Given the description of an element on the screen output the (x, y) to click on. 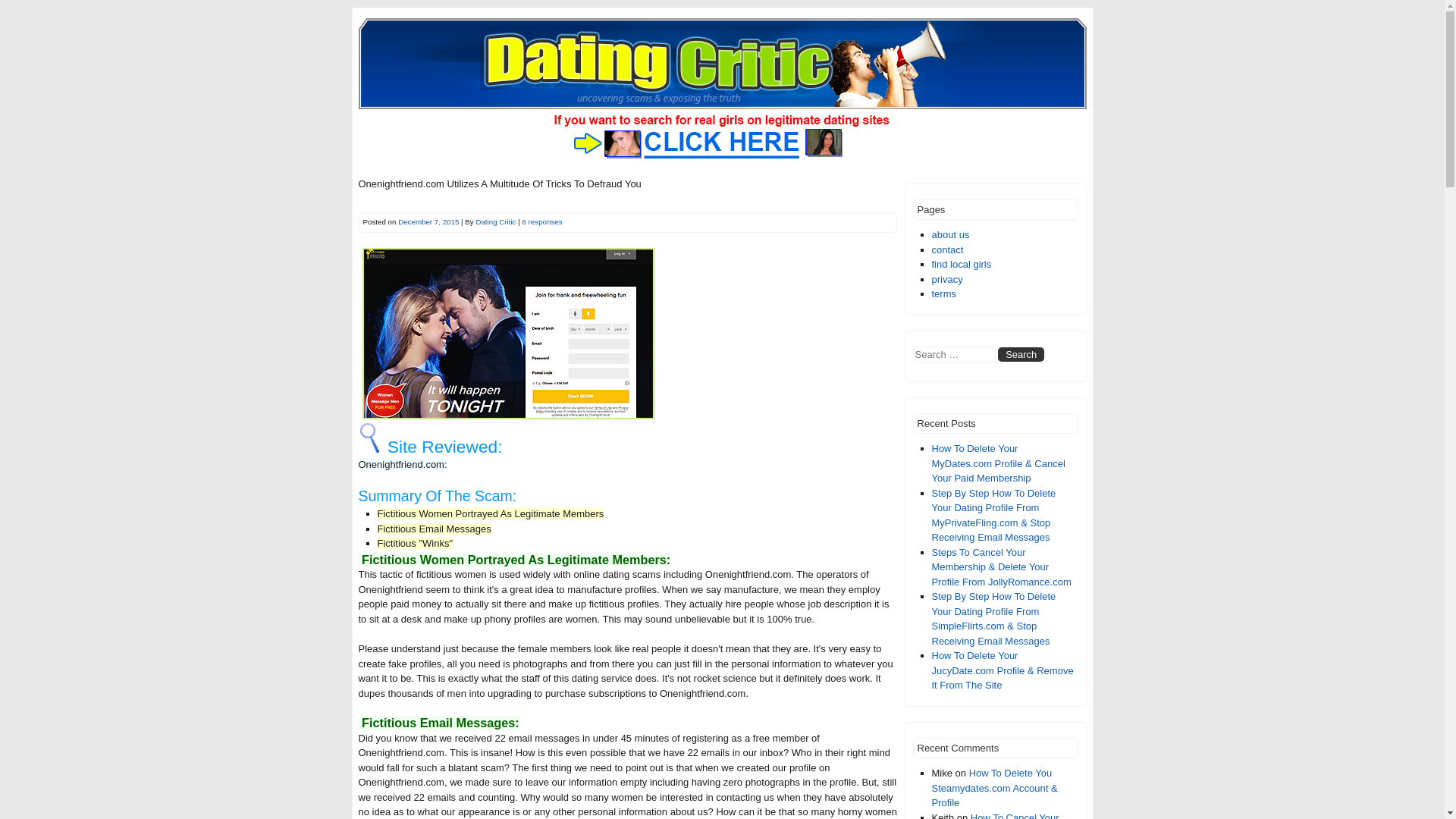
December 7, 2015 (427, 221)
6 responses (541, 221)
Search (1020, 354)
Search (1020, 354)
Dating Critic (495, 221)
